Given the description of an element on the screen output the (x, y) to click on. 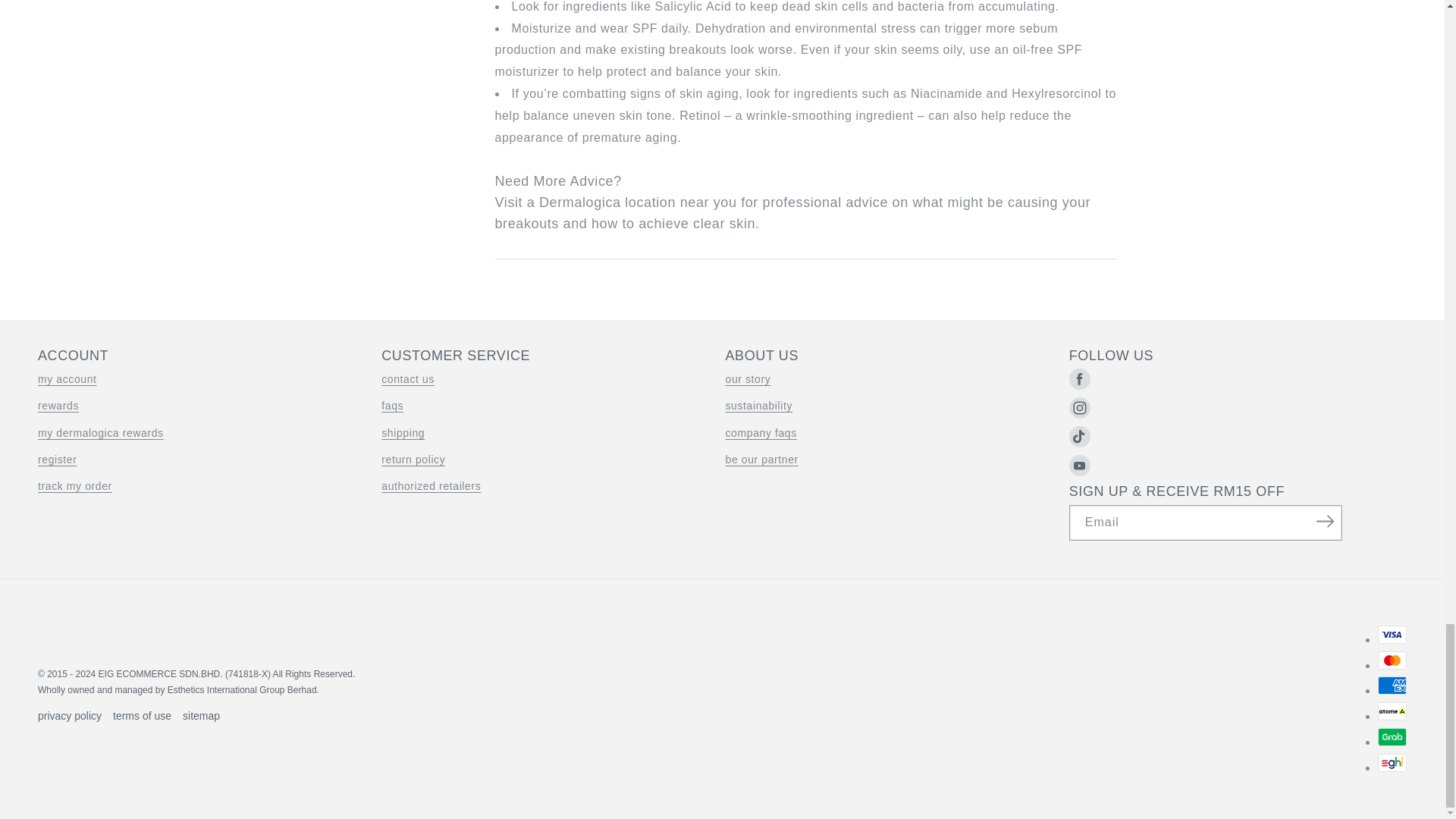
American Express (1391, 685)
Visa (1391, 634)
eGHL (1391, 762)
Mastercard (1391, 660)
GrabPay (1391, 737)
Atome (1391, 710)
